Given the description of an element on the screen output the (x, y) to click on. 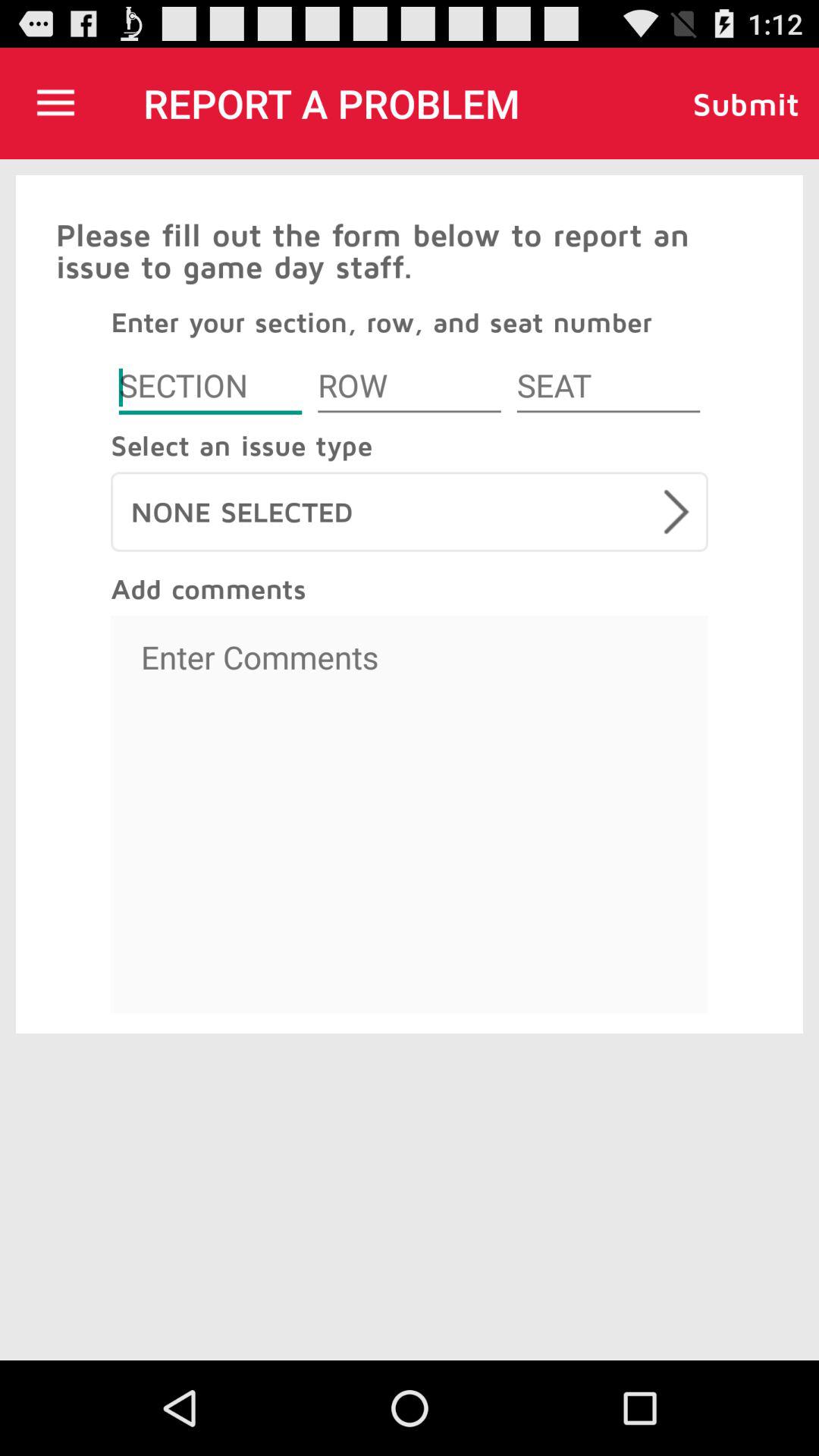
enter seat number (608, 388)
